Given the description of an element on the screen output the (x, y) to click on. 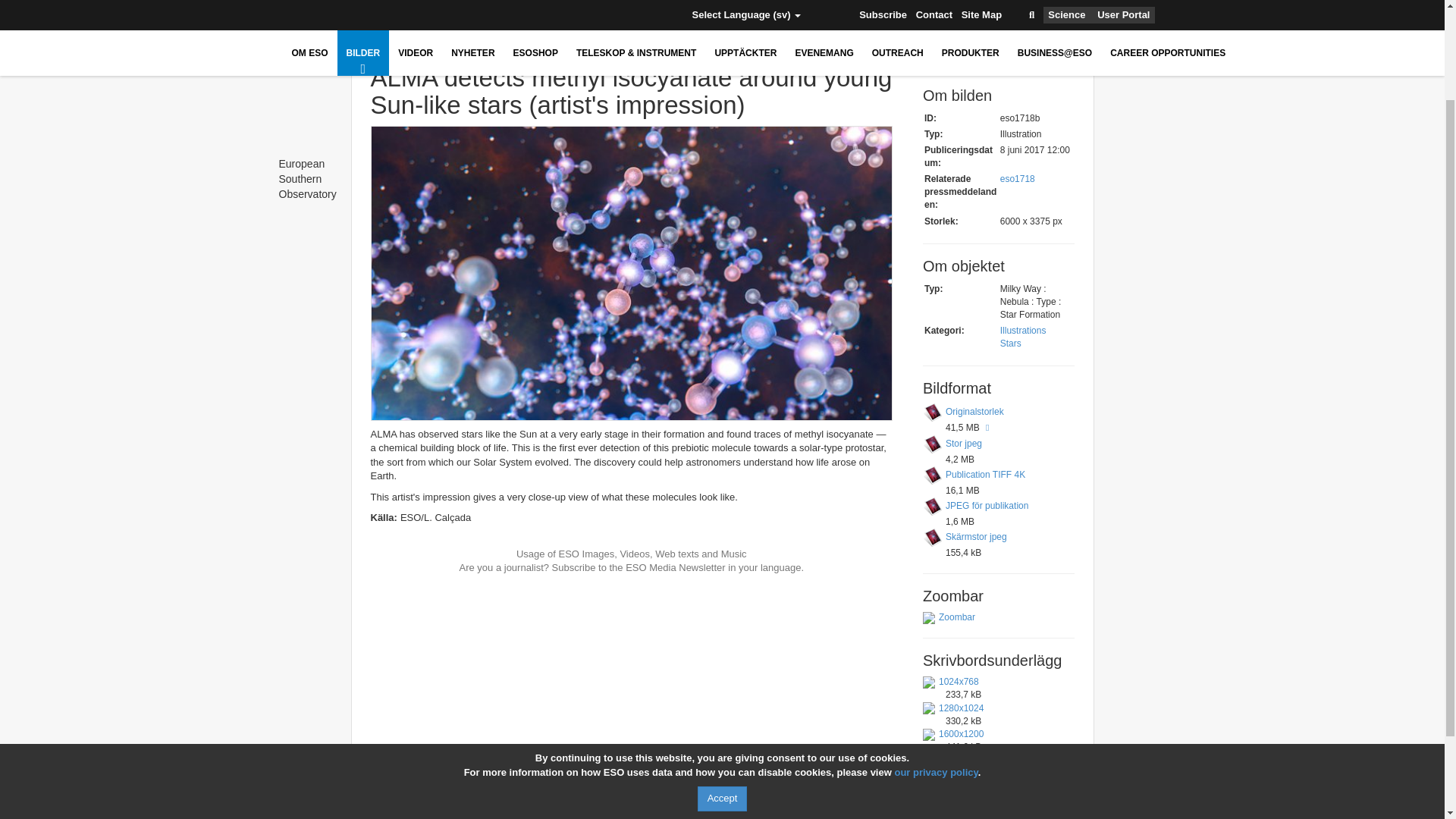
Accept (722, 683)
our privacy policy (934, 657)
